Given the description of an element on the screen output the (x, y) to click on. 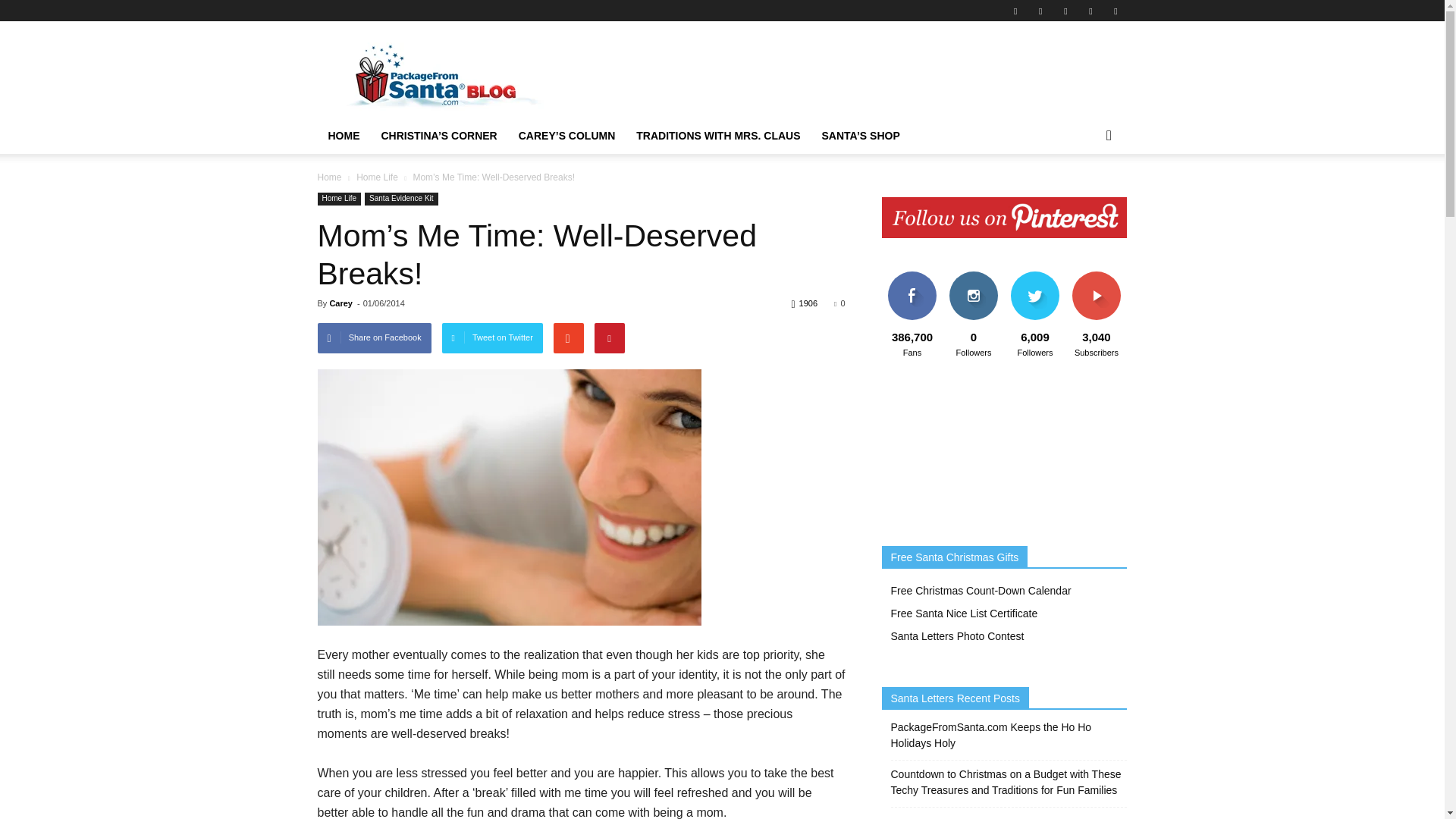
0 (839, 302)
Youtube (1114, 10)
Santa Evidence Kit (401, 198)
TRADITIONS WITH MRS. CLAUS (718, 135)
Mom's Me Time (508, 497)
Share on Facebook (373, 337)
Home (328, 176)
Home Life (339, 198)
Twitter (1090, 10)
Carey (340, 302)
Tweet on Twitter (492, 337)
Instagram (1040, 10)
View all posts in Home Life (376, 176)
Facebook (1015, 10)
Home Life (376, 176)
